Given the description of an element on the screen output the (x, y) to click on. 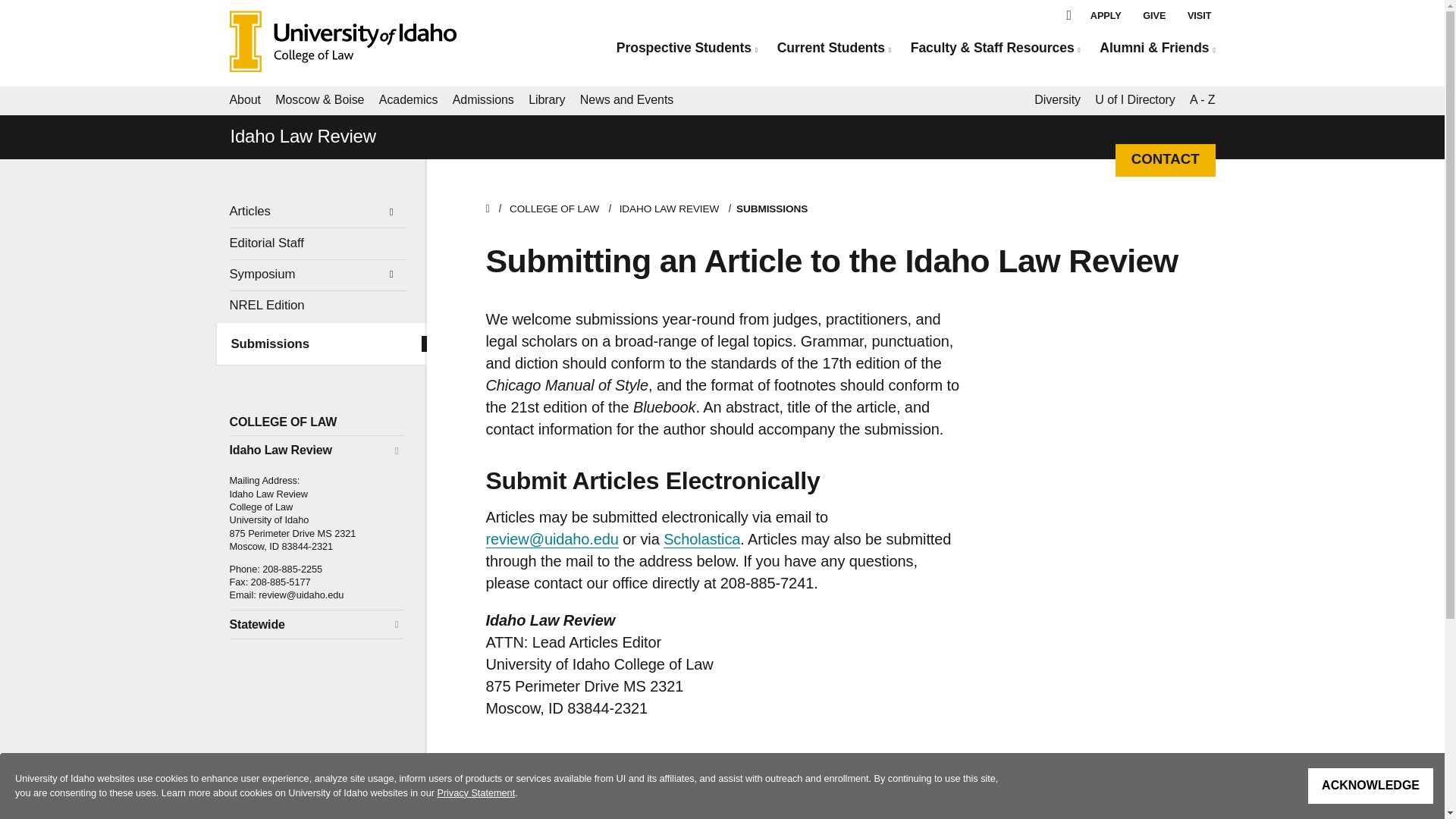
Current Students (834, 48)
GIVE (1154, 15)
APPLY (1105, 15)
VISIT (1199, 15)
Prospective Students (686, 48)
